Given the description of an element on the screen output the (x, y) to click on. 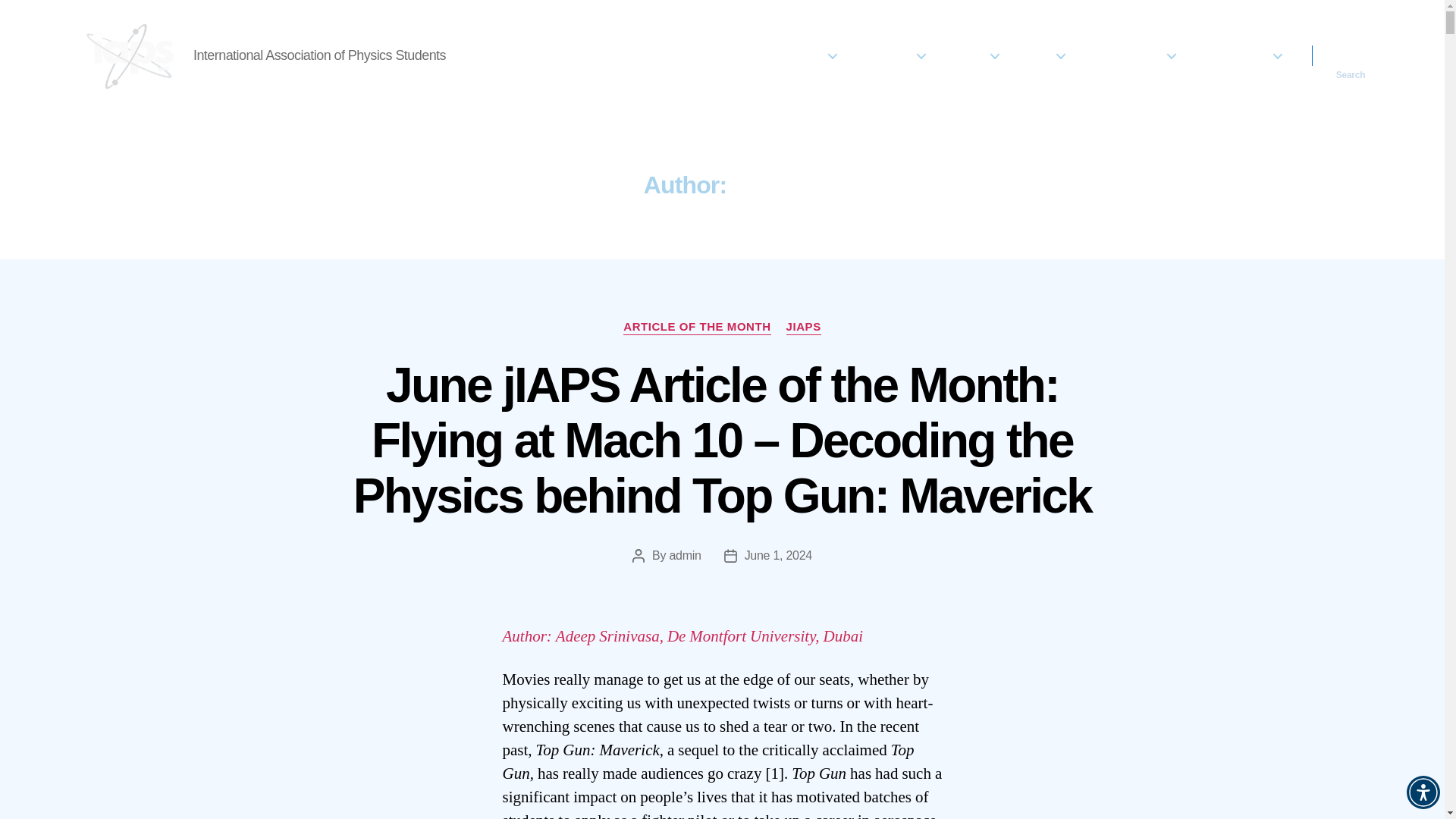
News (752, 54)
About (812, 54)
AC5 Council (1237, 54)
Opportunities (1128, 54)
jIAPS (1041, 54)
Search (1350, 55)
Accessibility Menu (1422, 792)
Members (890, 54)
Events (970, 54)
